Given the description of an element on the screen output the (x, y) to click on. 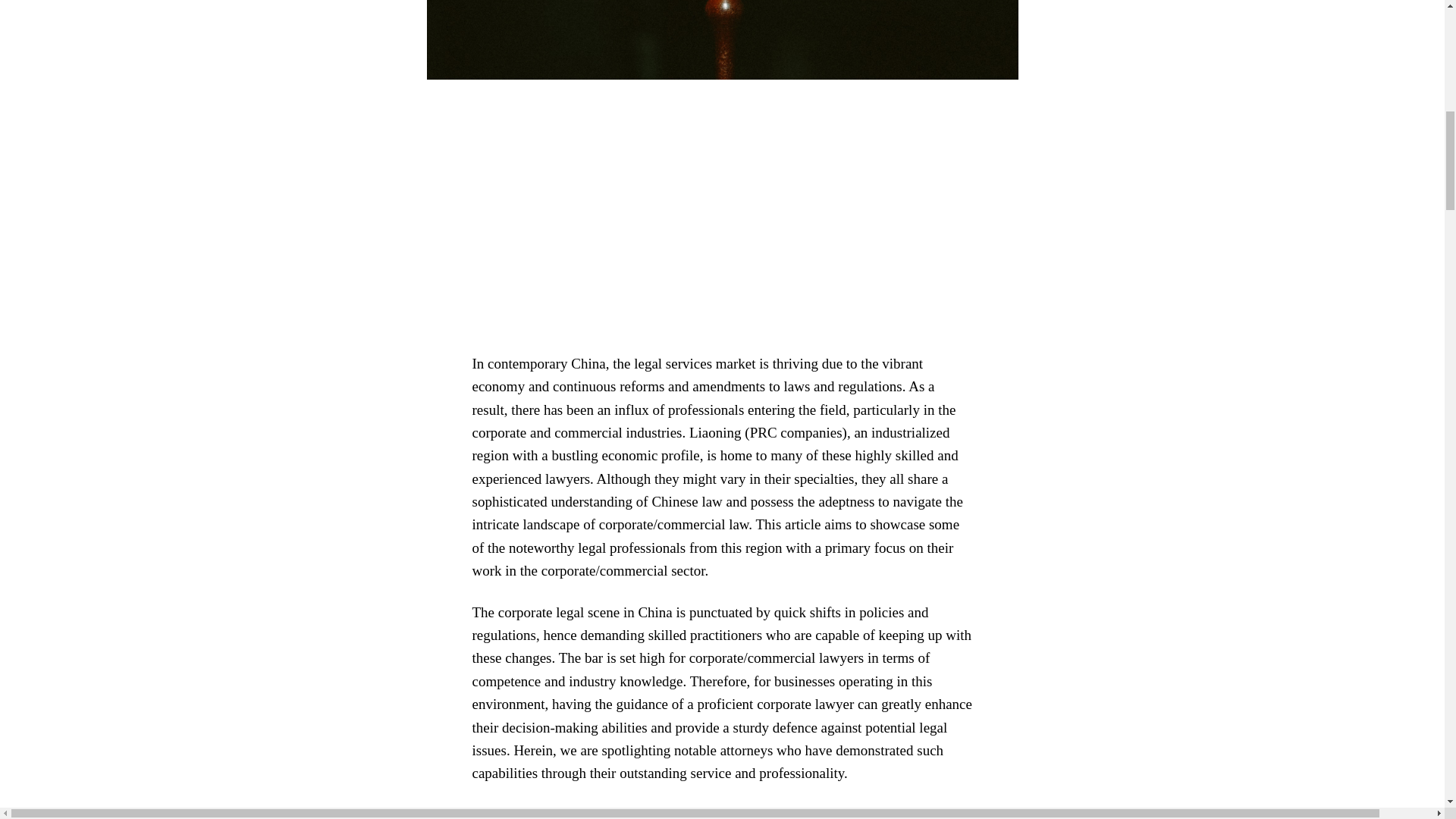
Advertisement (721, 215)
